Given the description of an element on the screen output the (x, y) to click on. 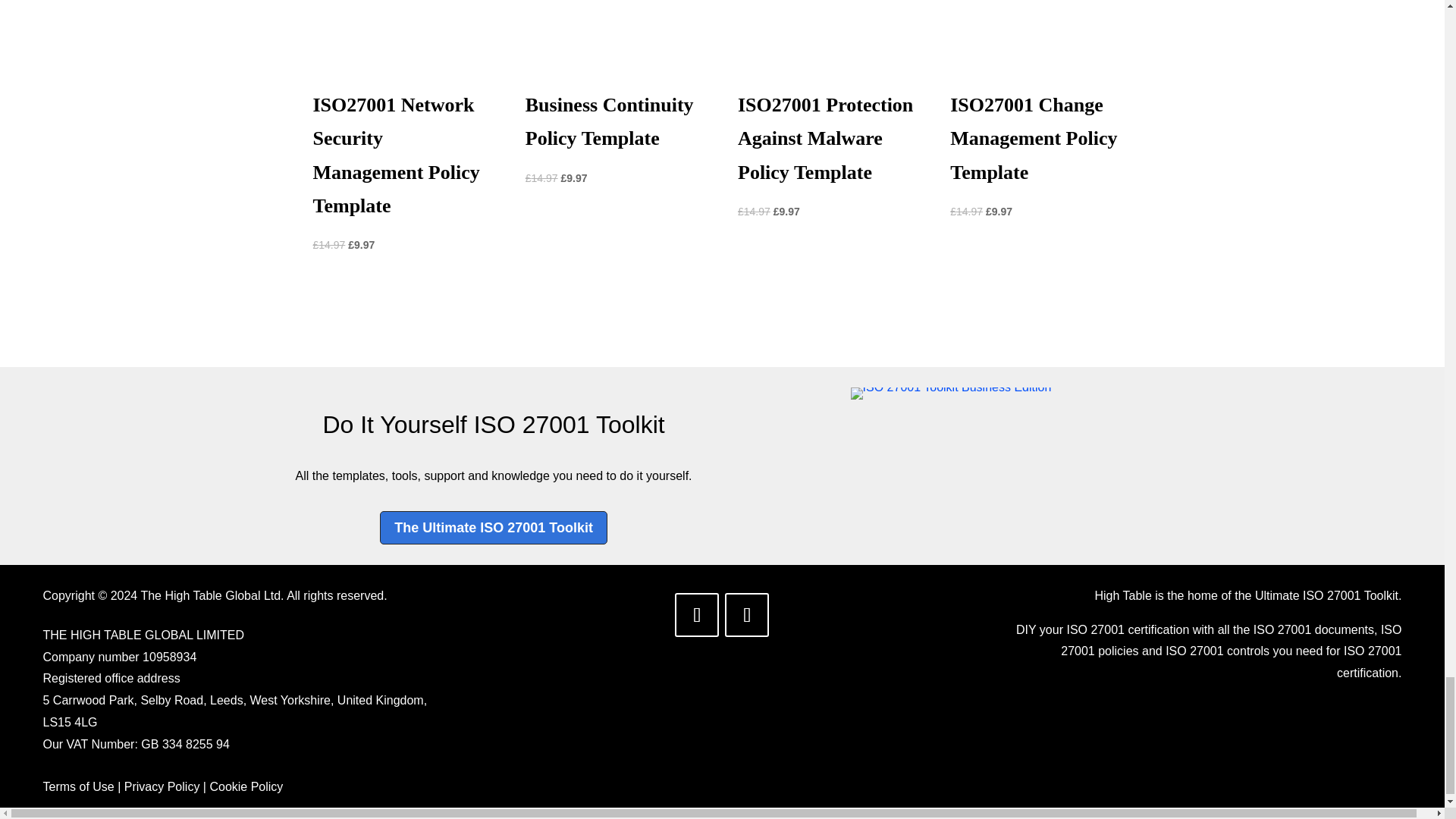
ISO 27001 Toolkit Business Edition (950, 393)
Follow on Instagram (746, 614)
Follow on LinkedIn (697, 614)
The Ultimate ISO 27001 Toolkit (493, 527)
